Given the description of an element on the screen output the (x, y) to click on. 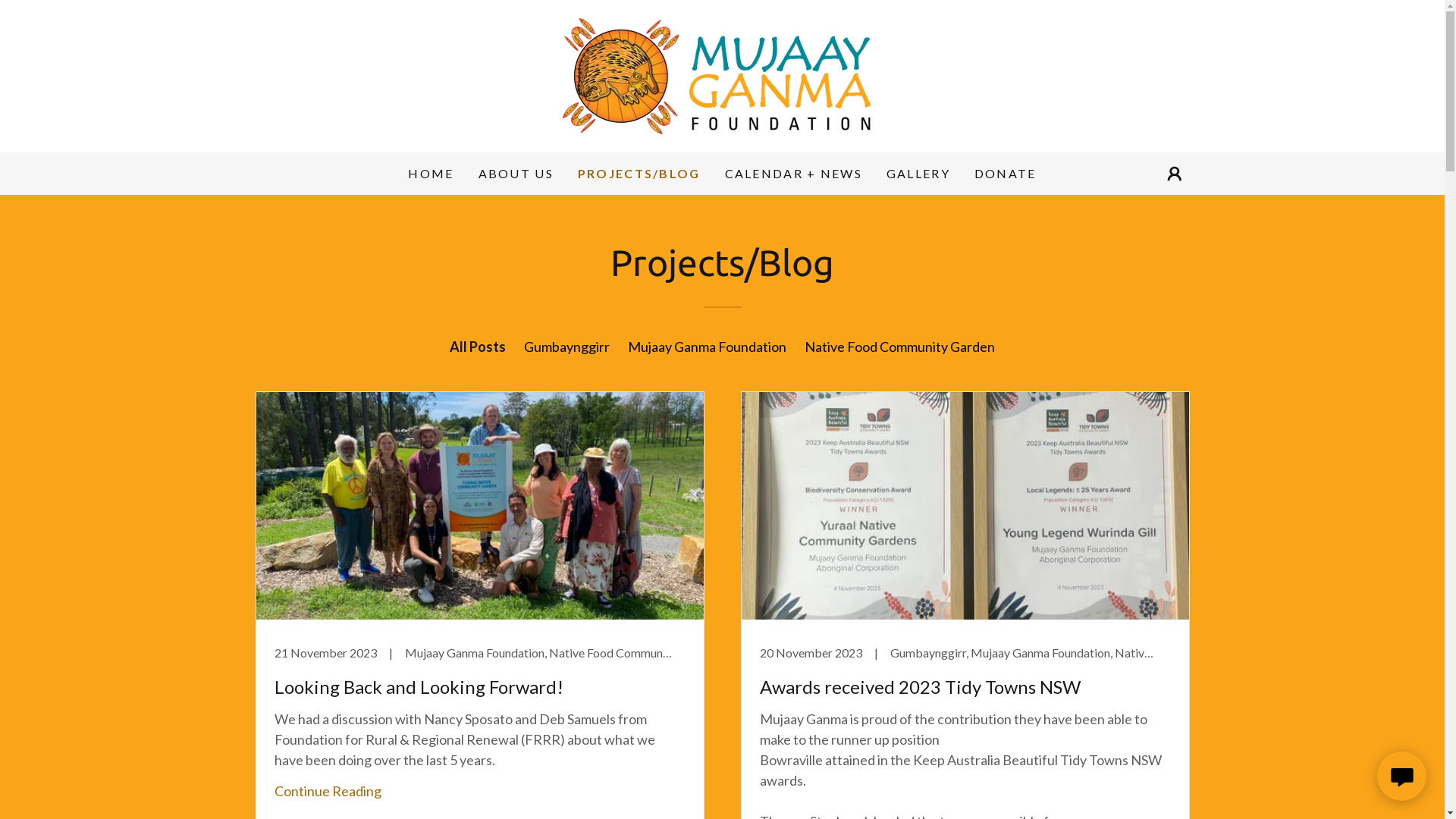
DONATE Element type: text (1005, 173)
Gumbaynggirr Element type: text (566, 346)
ABOUT US Element type: text (515, 173)
HOME Element type: text (430, 173)
All Posts Element type: text (477, 346)
PROJECTS/BLOG Element type: text (638, 173)
Mujaay Ganma Foundation Element type: text (706, 346)
CALENDAR + NEWS Element type: text (793, 173)
Native Food Community Garden Element type: text (899, 346)
GALLERY Element type: text (917, 173)
